Given the description of an element on the screen output the (x, y) to click on. 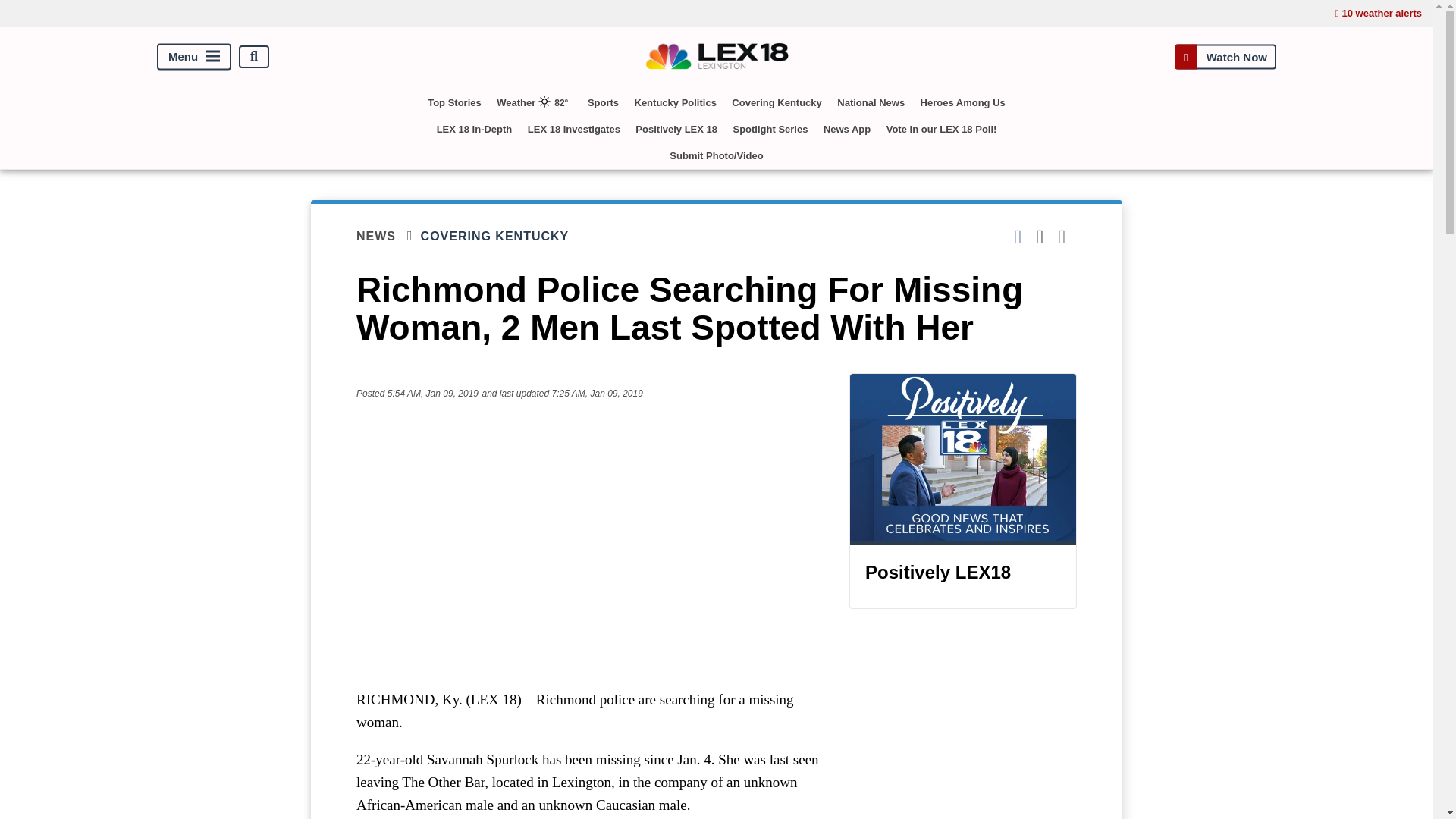
Watch Now (1224, 56)
Menu (194, 56)
YouTube player (587, 544)
